Given the description of an element on the screen output the (x, y) to click on. 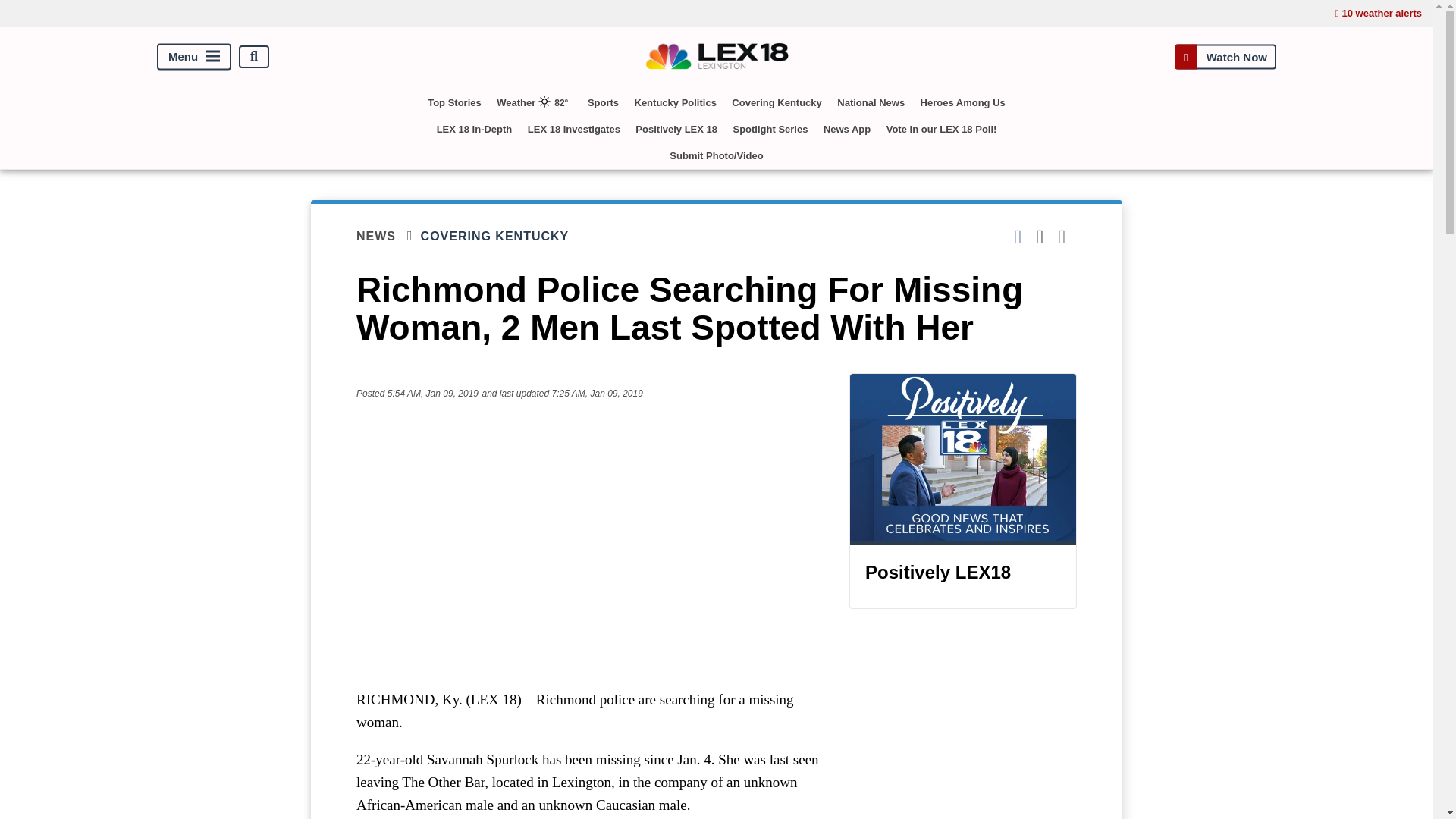
Watch Now (1224, 56)
Menu (194, 56)
YouTube player (587, 544)
